Given the description of an element on the screen output the (x, y) to click on. 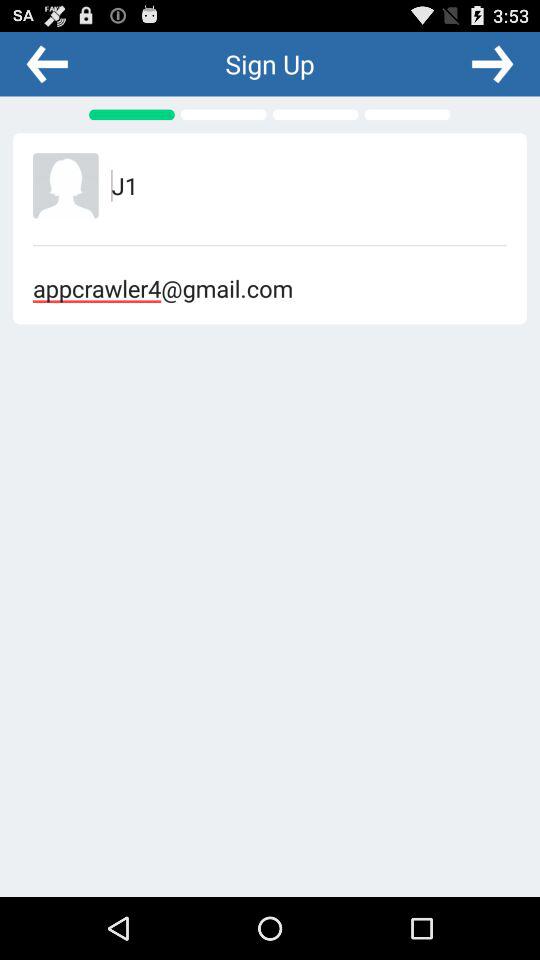
go to (492, 63)
